Given the description of an element on the screen output the (x, y) to click on. 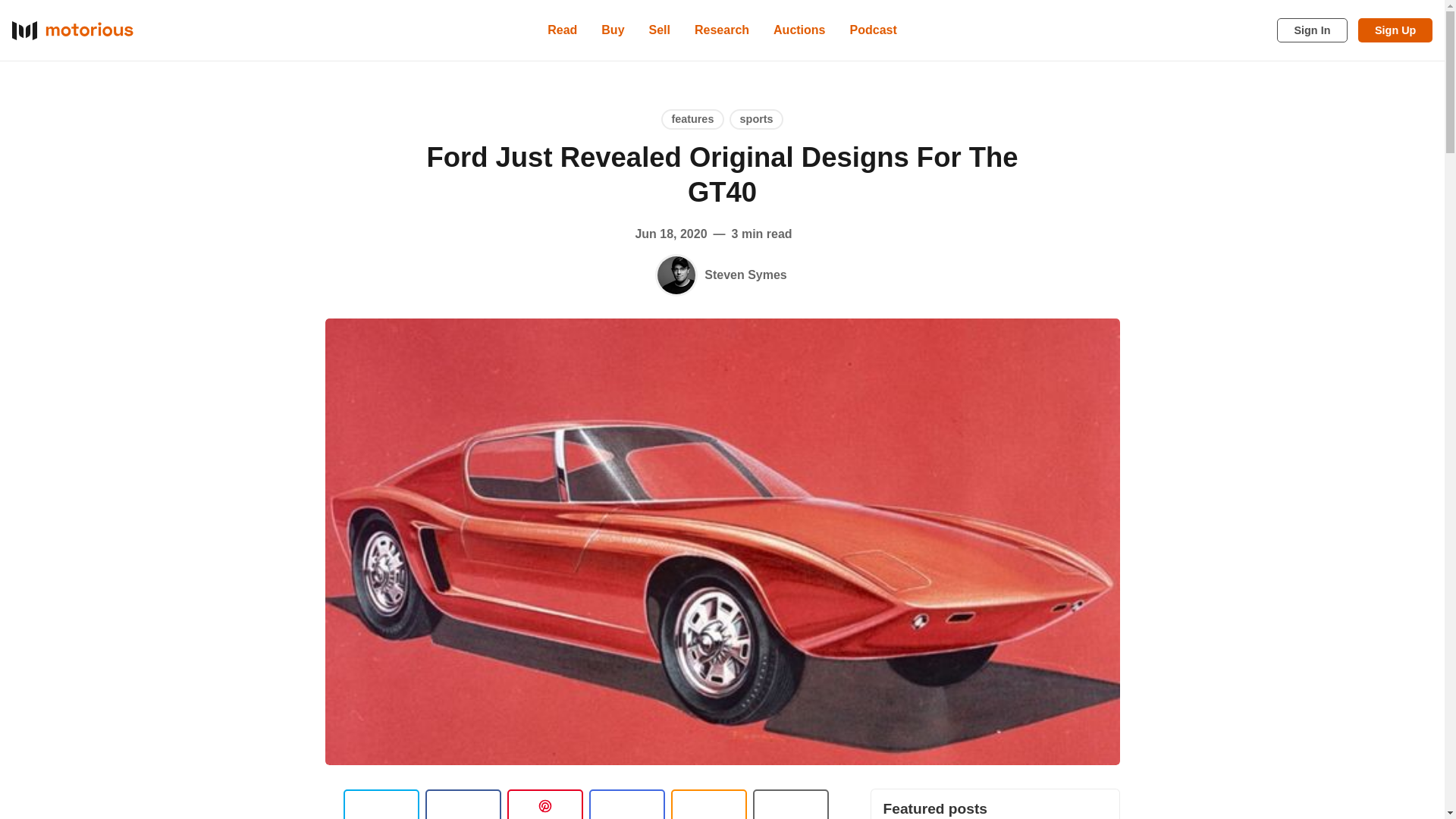
Share on Facebook (462, 804)
Steven Symes (676, 275)
Share on Twitter (380, 804)
Bookmark (790, 804)
features (692, 118)
features (692, 118)
Copy to clipboard (707, 804)
sports (756, 118)
Buy (612, 29)
Share on Linkedin (544, 804)
